Given the description of an element on the screen output the (x, y) to click on. 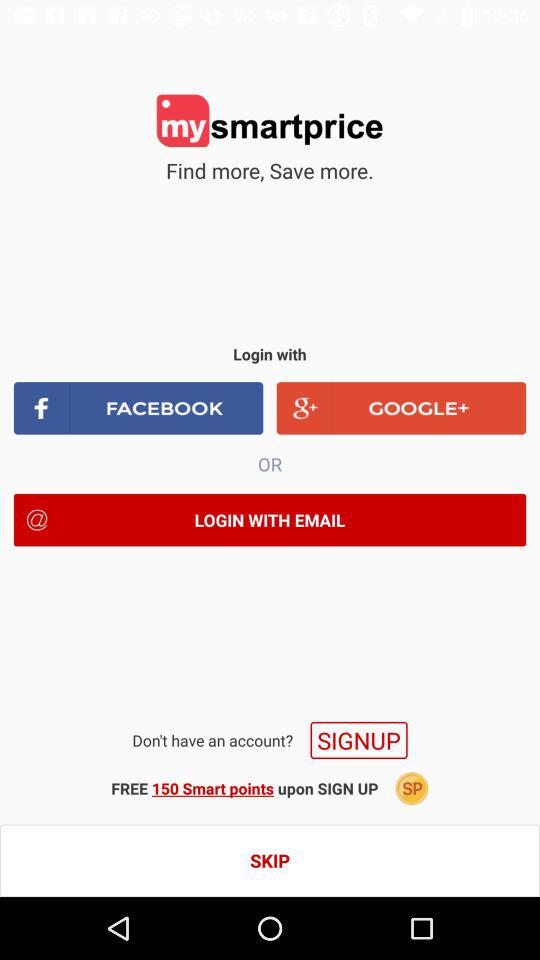
turn off the icon above skip icon (411, 788)
